Given the description of an element on the screen output the (x, y) to click on. 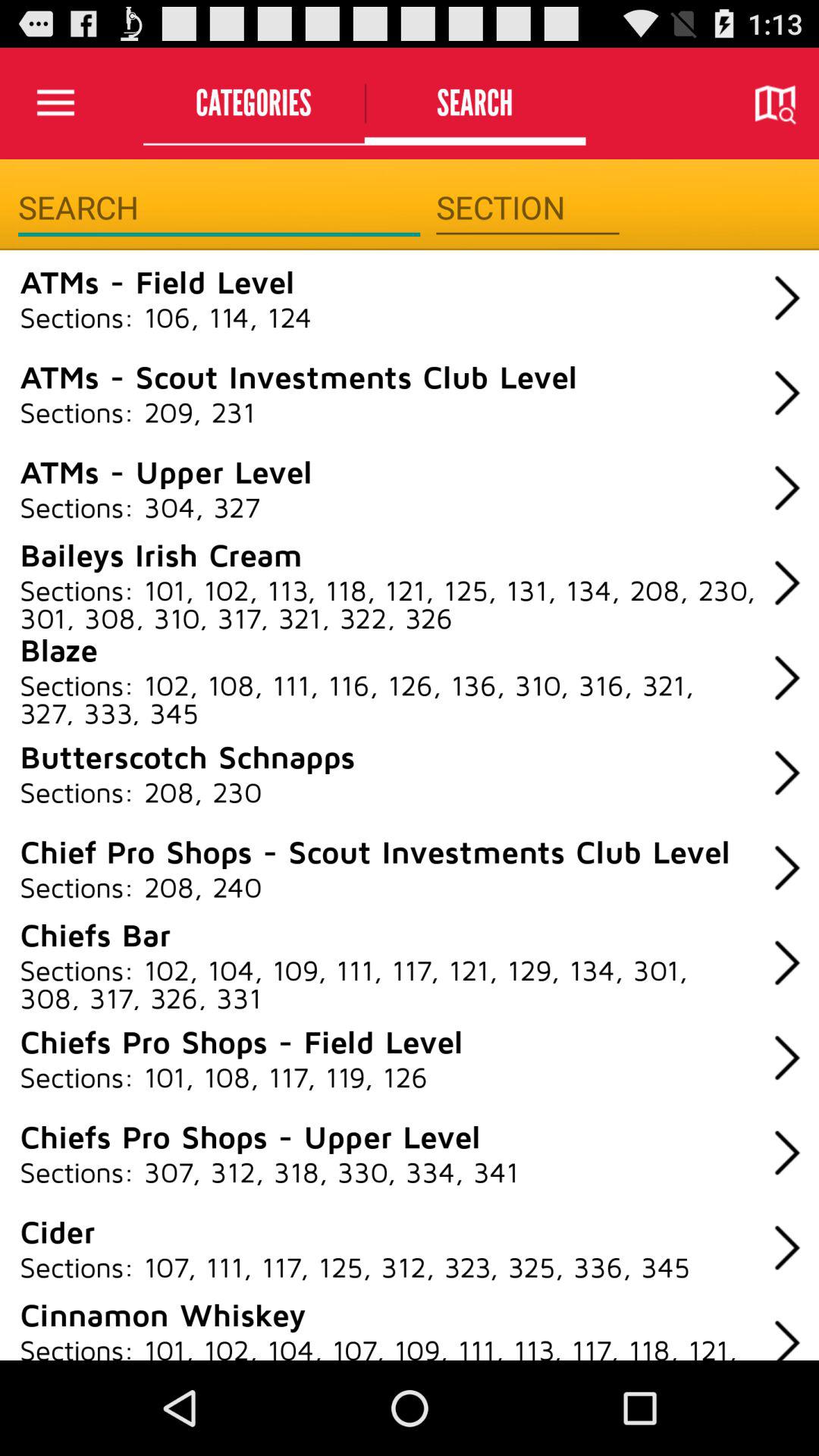
launch the icon next to search (253, 103)
